Given the description of an element on the screen output the (x, y) to click on. 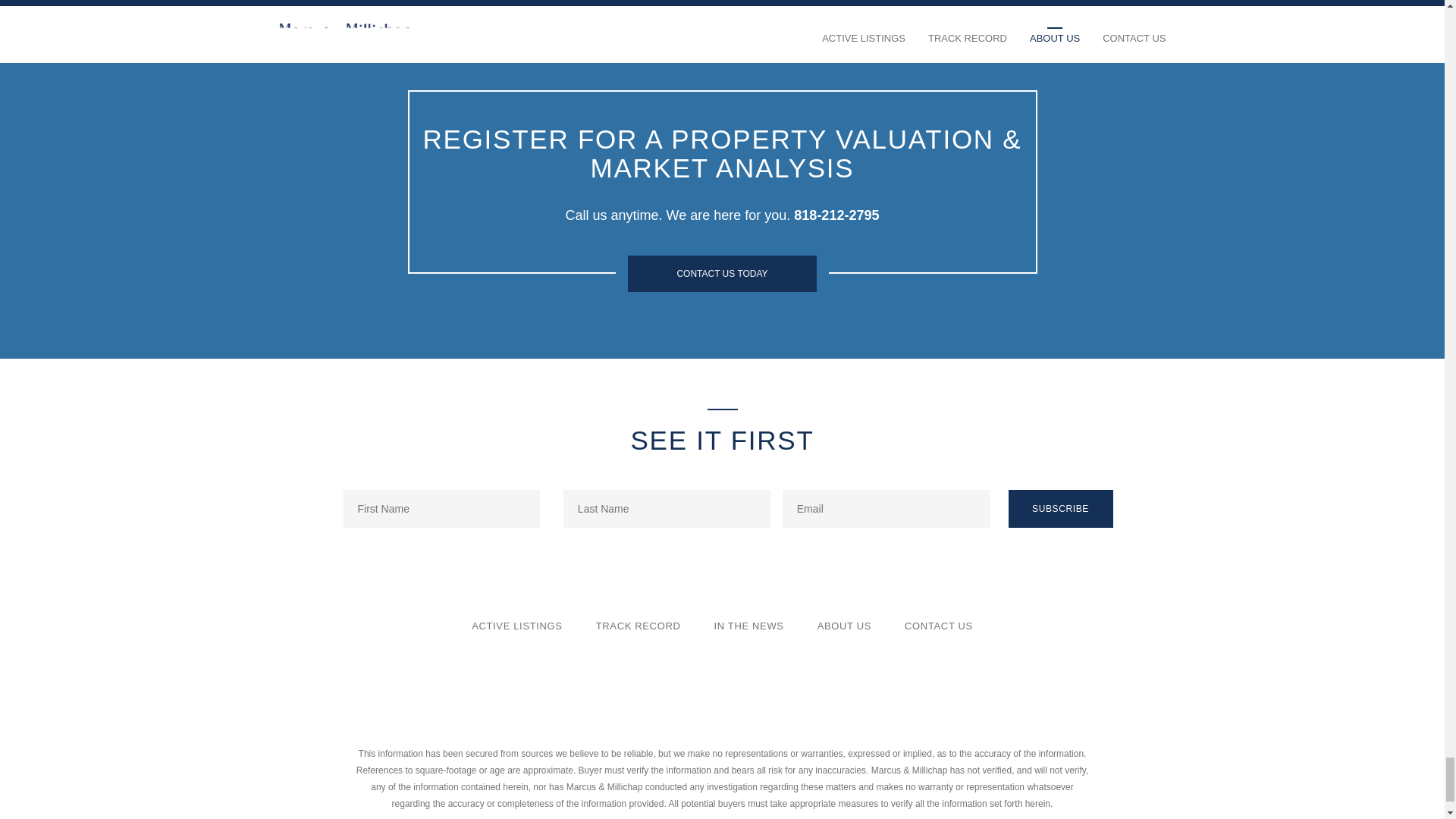
ACTIVE LISTINGS (516, 625)
818-212-2795 (836, 215)
Subscribe (1061, 508)
CONTACT US TODAY (721, 273)
IN THE NEWS (749, 625)
Subscribe (1061, 508)
CONTACT US (938, 625)
TRACK RECORD (638, 625)
ABOUT US (843, 625)
